Given the description of an element on the screen output the (x, y) to click on. 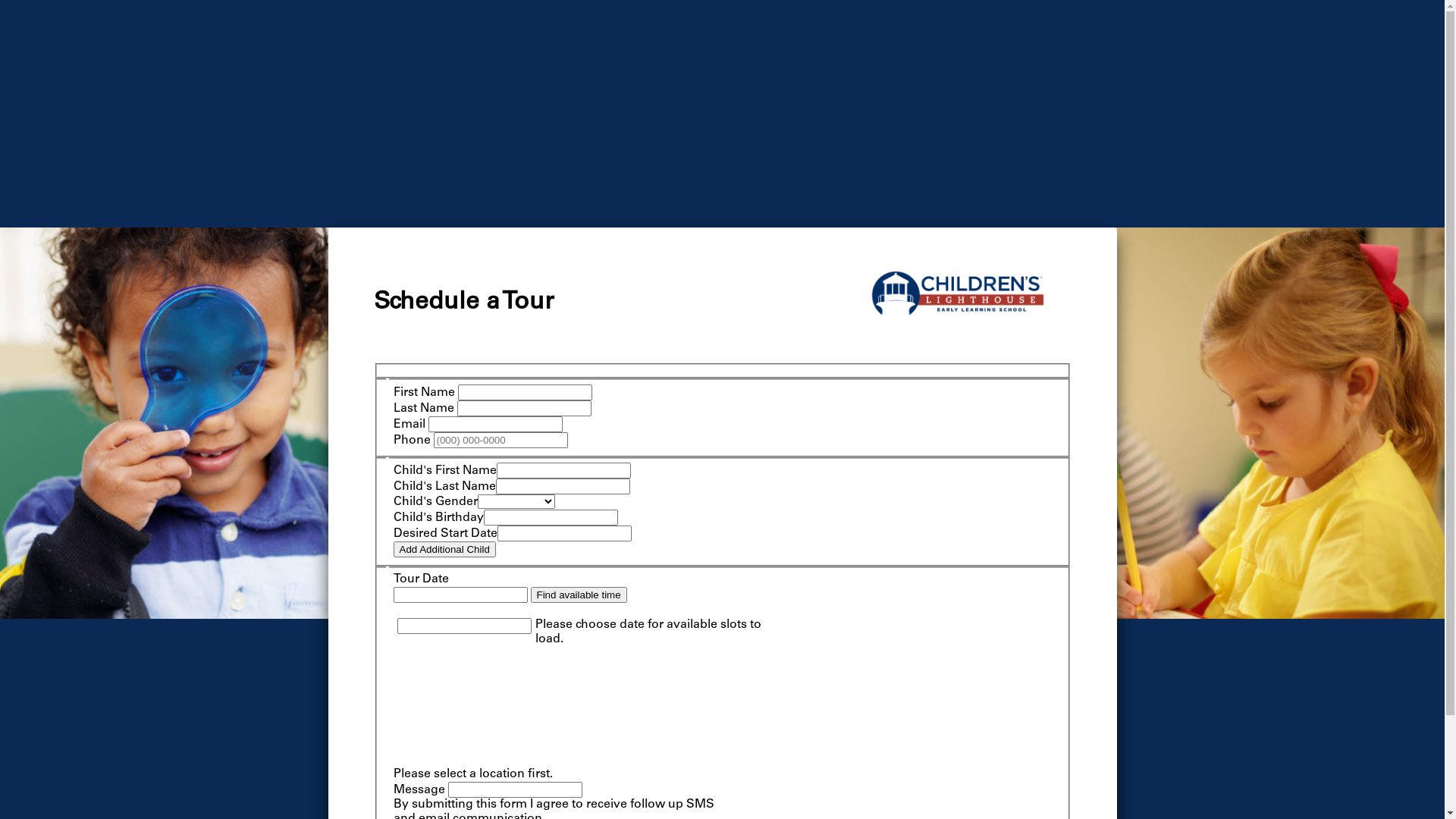
Find available time Element type: text (578, 594)
Add Additional Child Element type: text (443, 549)
